Given the description of an element on the screen output the (x, y) to click on. 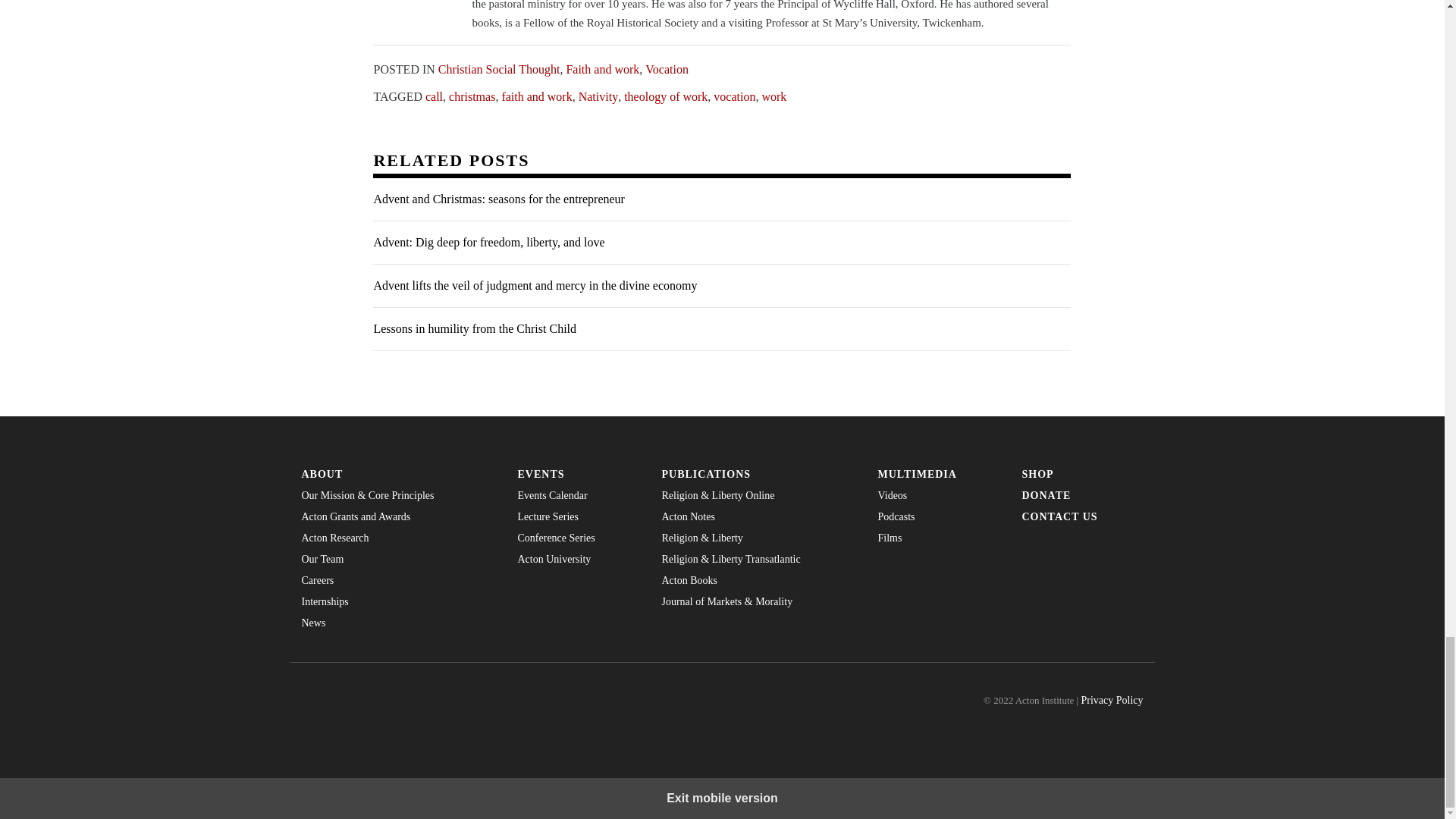
Faith and work (602, 69)
Advent: Dig deep for freedom, liberty, and love (721, 242)
vocation (734, 96)
Lessons in humility from the Christ Child (721, 329)
work (773, 96)
theology of work (665, 96)
Advent: Dig deep for freedom, liberty, and love (721, 242)
Vocation (666, 69)
call (433, 96)
ABOUT (398, 474)
Nativity (597, 96)
faith and work (536, 96)
christmas (471, 96)
Lessons in humility from the Christ Child (721, 329)
